Given the description of an element on the screen output the (x, y) to click on. 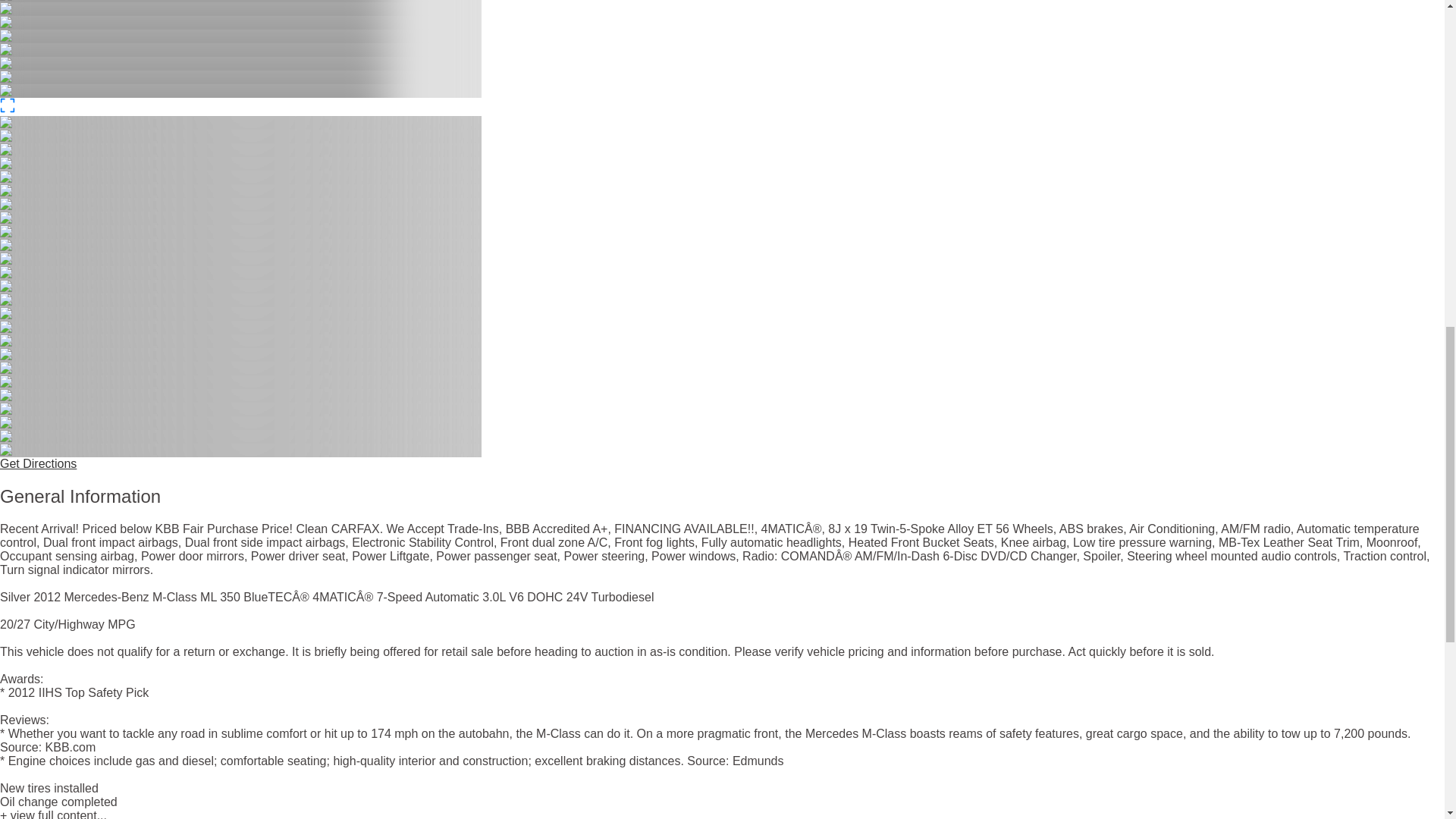
Get Directions (38, 463)
